Given the description of an element on the screen output the (x, y) to click on. 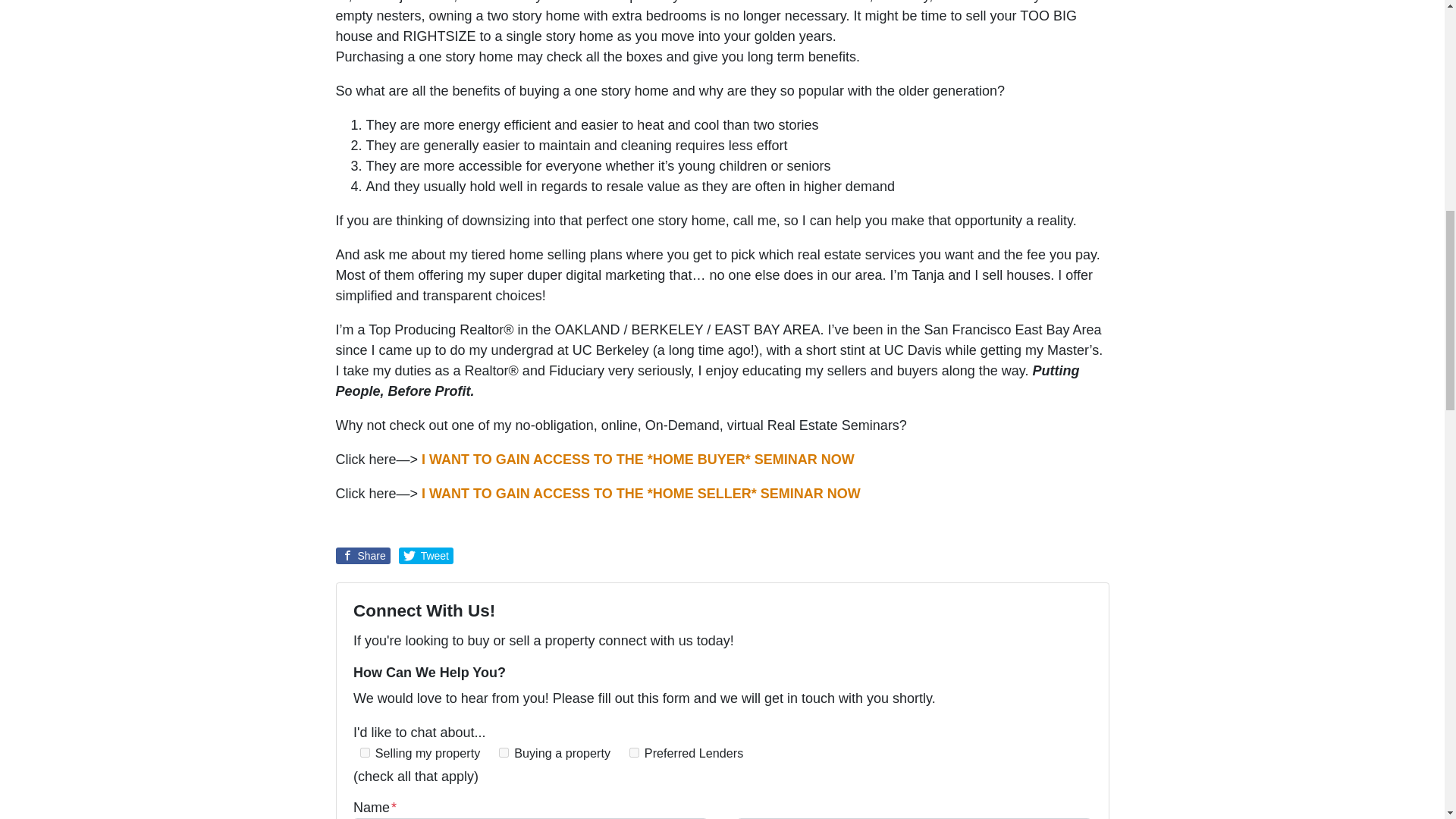
Share on Twitter (425, 555)
Selling my property (364, 752)
Preferred Lenders (633, 752)
Share (362, 555)
Share on Facebook (362, 555)
Tweet (425, 555)
Buying a property (503, 752)
